Given the description of an element on the screen output the (x, y) to click on. 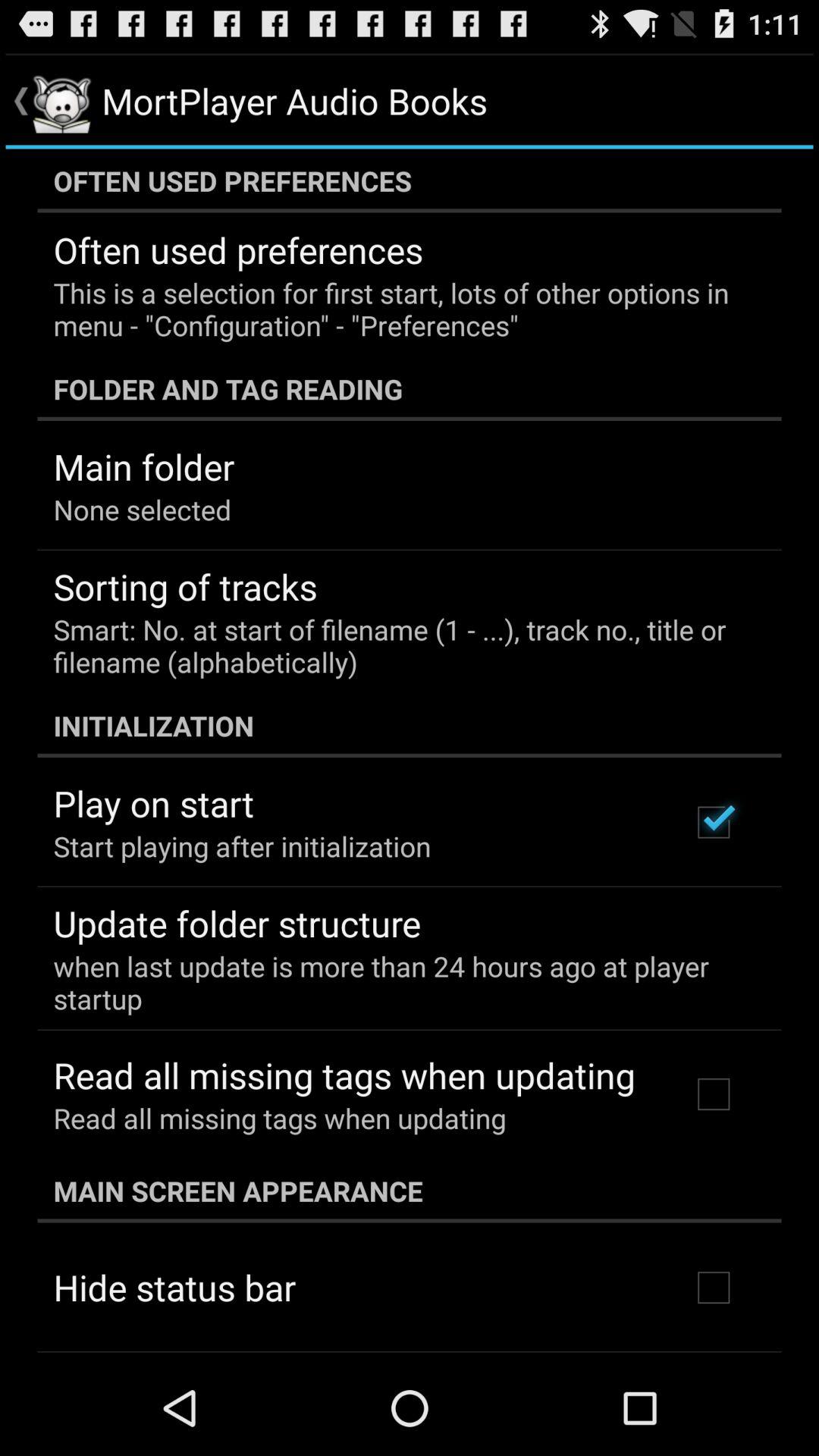
launch the app above the start playing after item (153, 803)
